Given the description of an element on the screen output the (x, y) to click on. 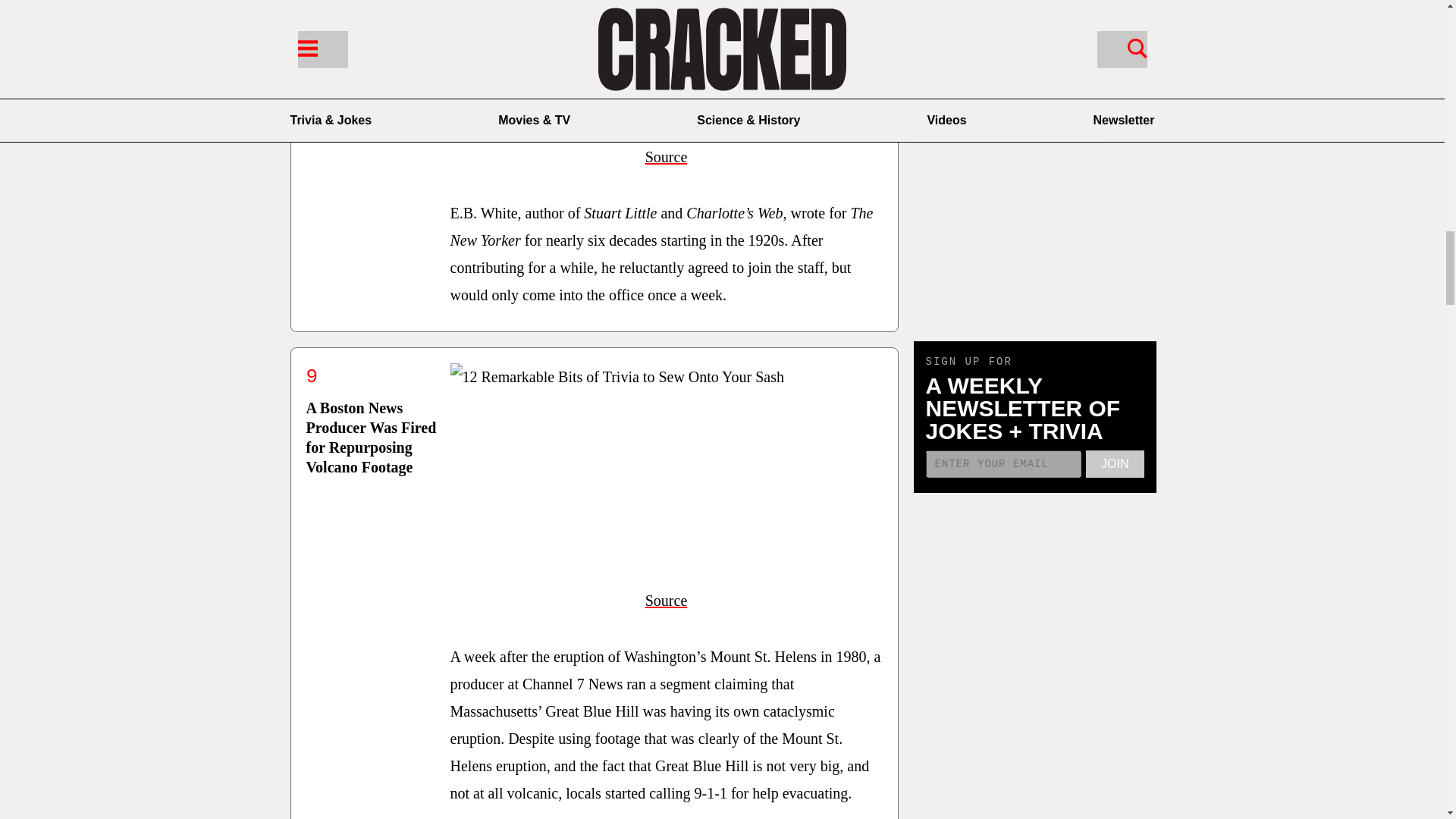
Source (666, 600)
Source (666, 156)
